Given the description of an element on the screen output the (x, y) to click on. 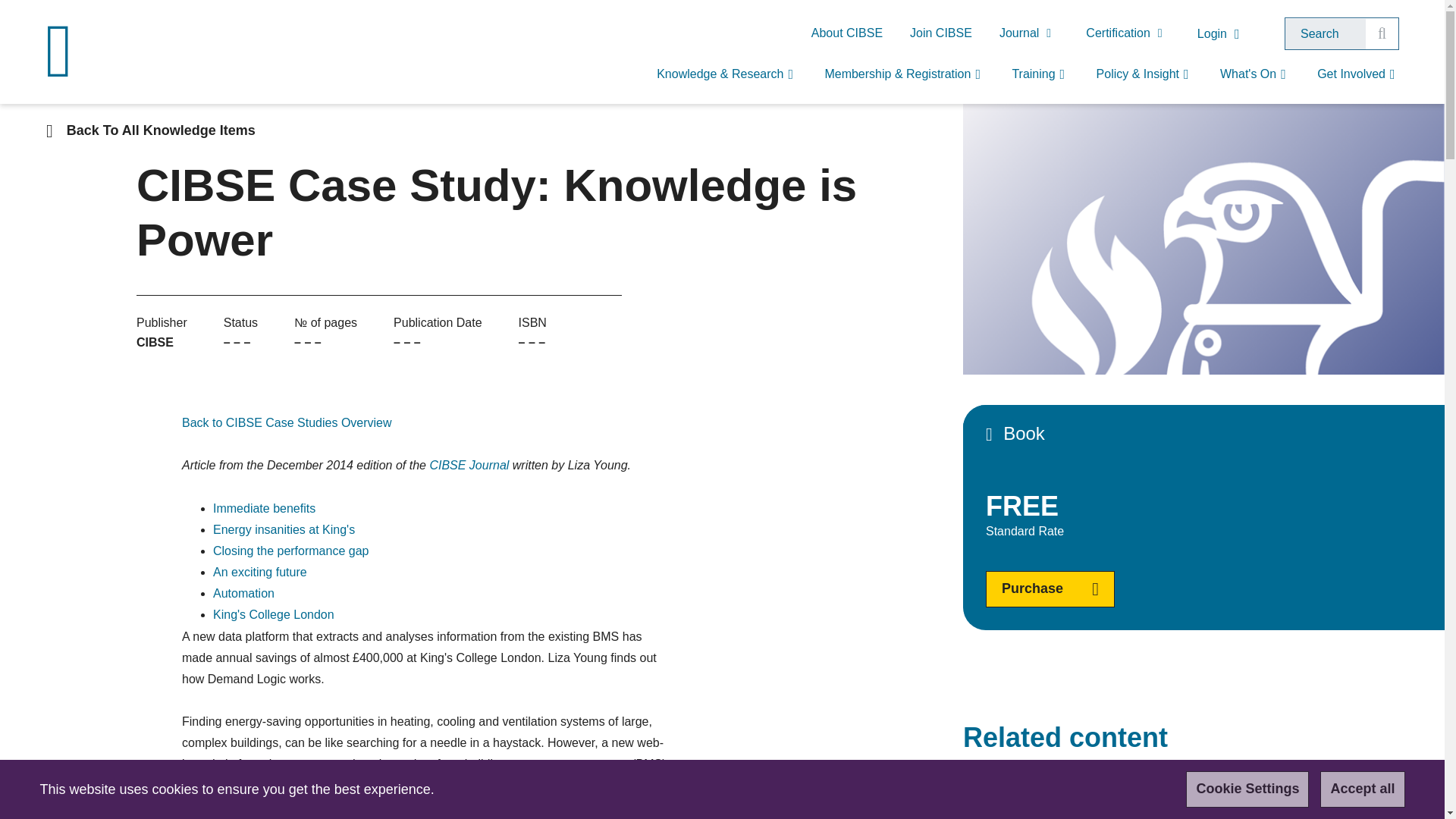
Login (1222, 34)
Join CIBSE (940, 33)
Certification (1126, 33)
Journal (1028, 33)
About CIBSE (846, 33)
